Given the description of an element on the screen output the (x, y) to click on. 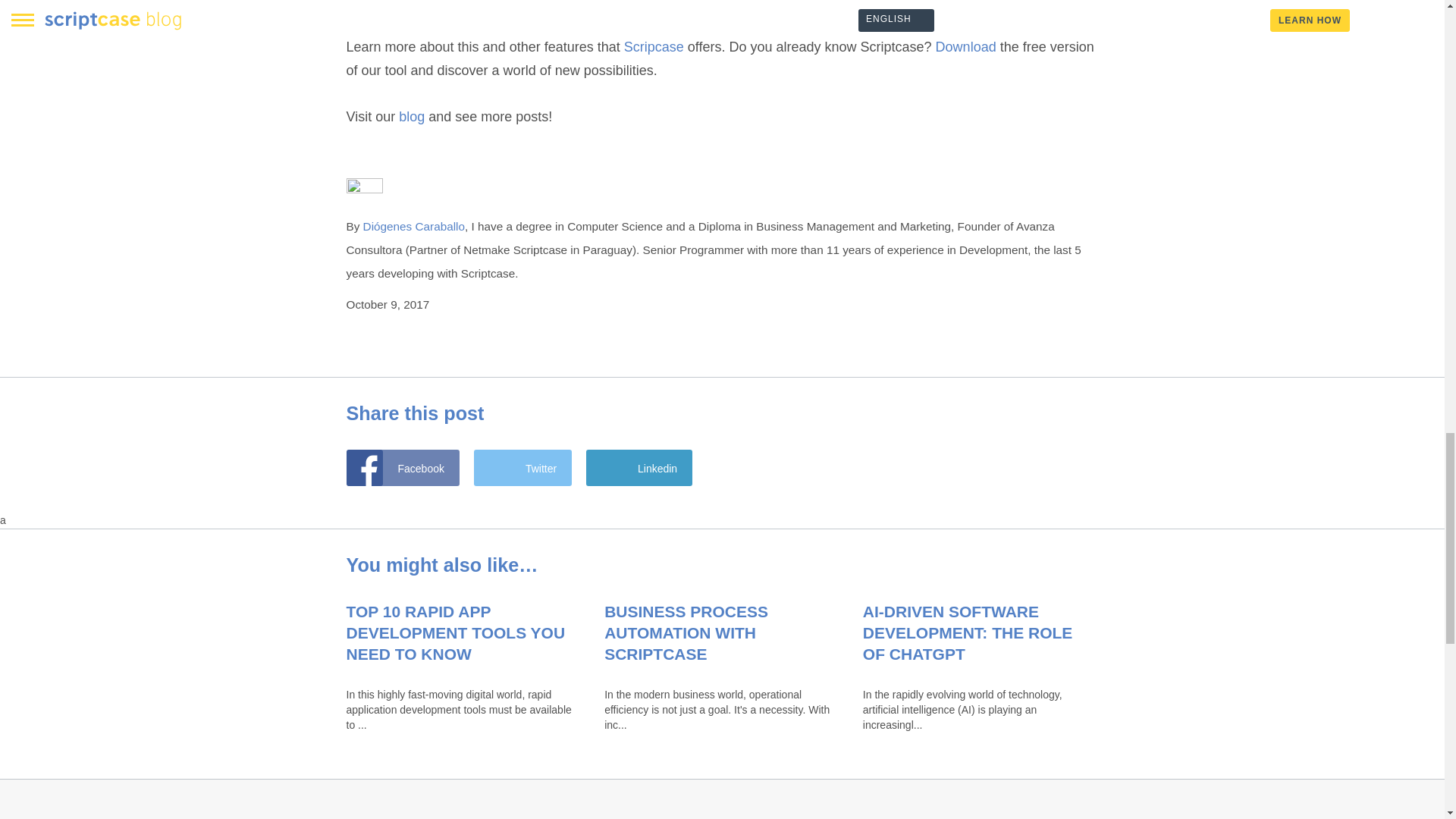
Download (965, 46)
Scripcase (654, 46)
TOP 10 RAPID APP DEVELOPMENT TOOLS YOU NEED TO KNOW (455, 632)
blog (411, 116)
BUSINESS PROCESS AUTOMATION WITH SCRIPTCASE (686, 632)
AI-DRIVEN SOFTWARE DEVELOPMENT: THE ROLE OF CHATGPT (968, 632)
